Given the description of an element on the screen output the (x, y) to click on. 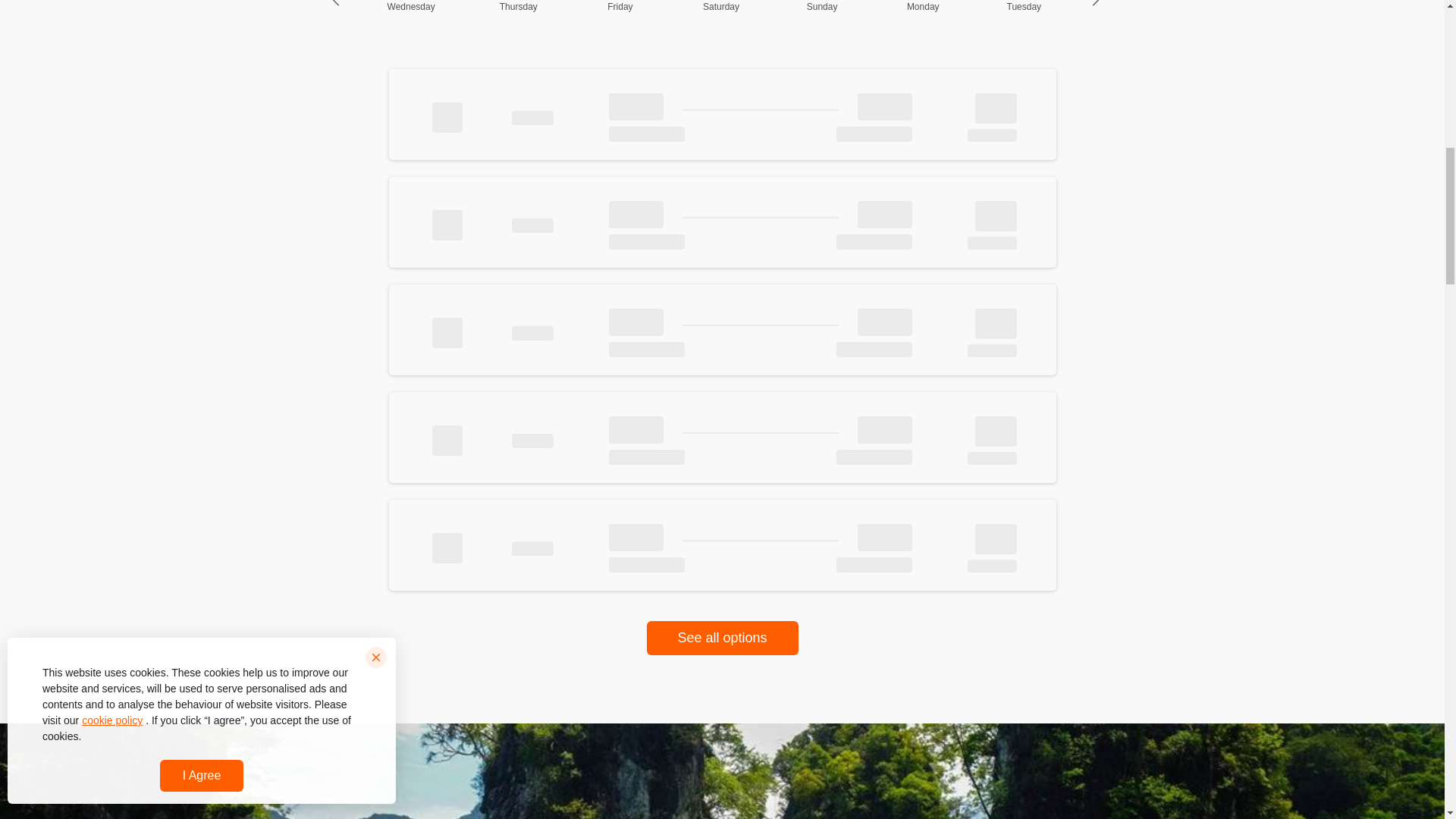
See all options (619, 11)
